Given the description of an element on the screen output the (x, y) to click on. 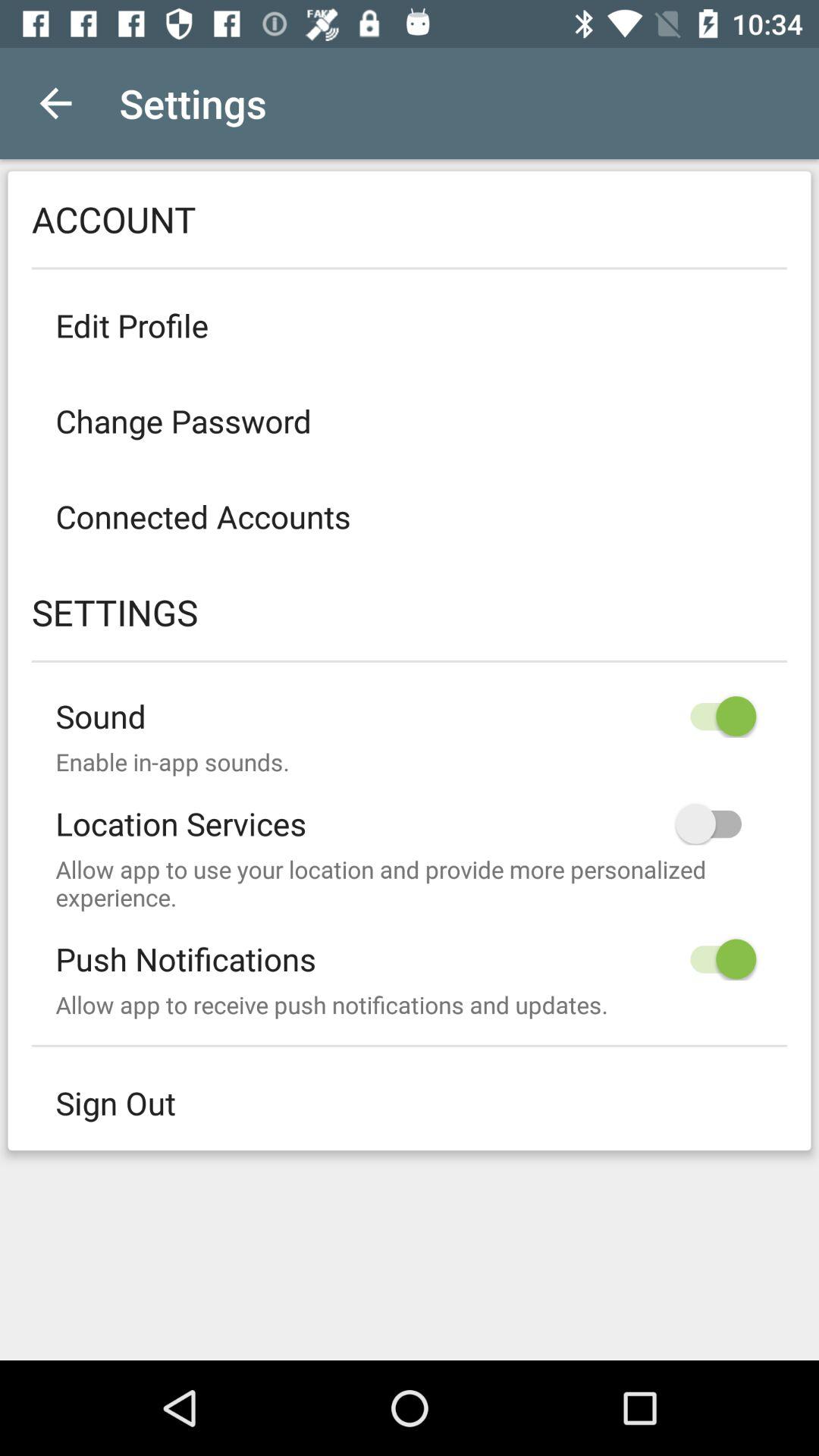
click item above the account (55, 103)
